Given the description of an element on the screen output the (x, y) to click on. 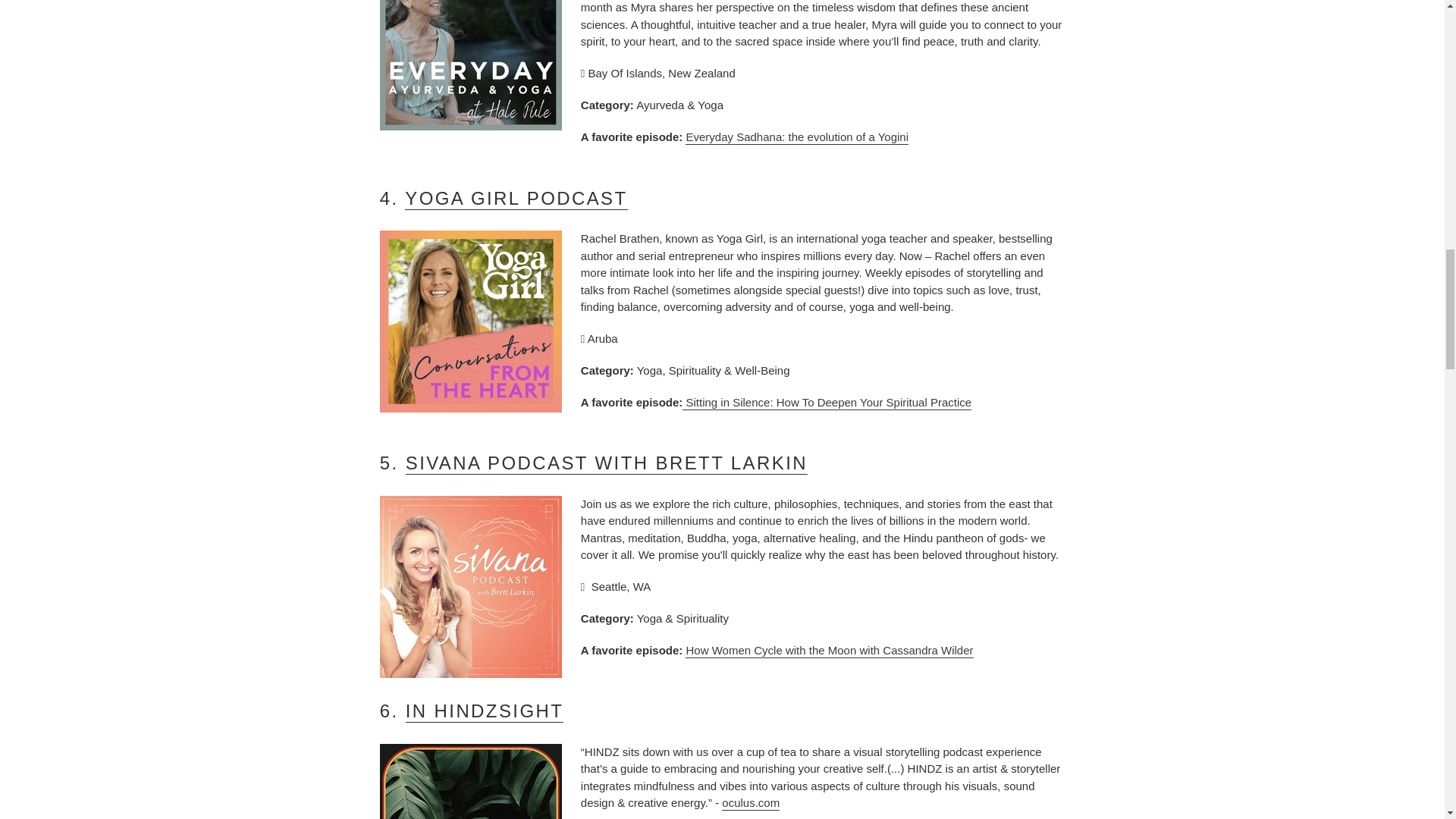
IN HINDZSIGHT (485, 711)
SIVANA PODCAST WITH BRETT LARKIN (607, 463)
Sitting in Silence: How To Deepen Your Spiritual Practice (826, 402)
oculus.com (750, 803)
How Women Cycle with the Moon with Cassandra Wilder (828, 650)
YOGA GIRL PODCAST (515, 198)
Everyday Sadhana: the evolution of a Yogini (796, 137)
